Given the description of an element on the screen output the (x, y) to click on. 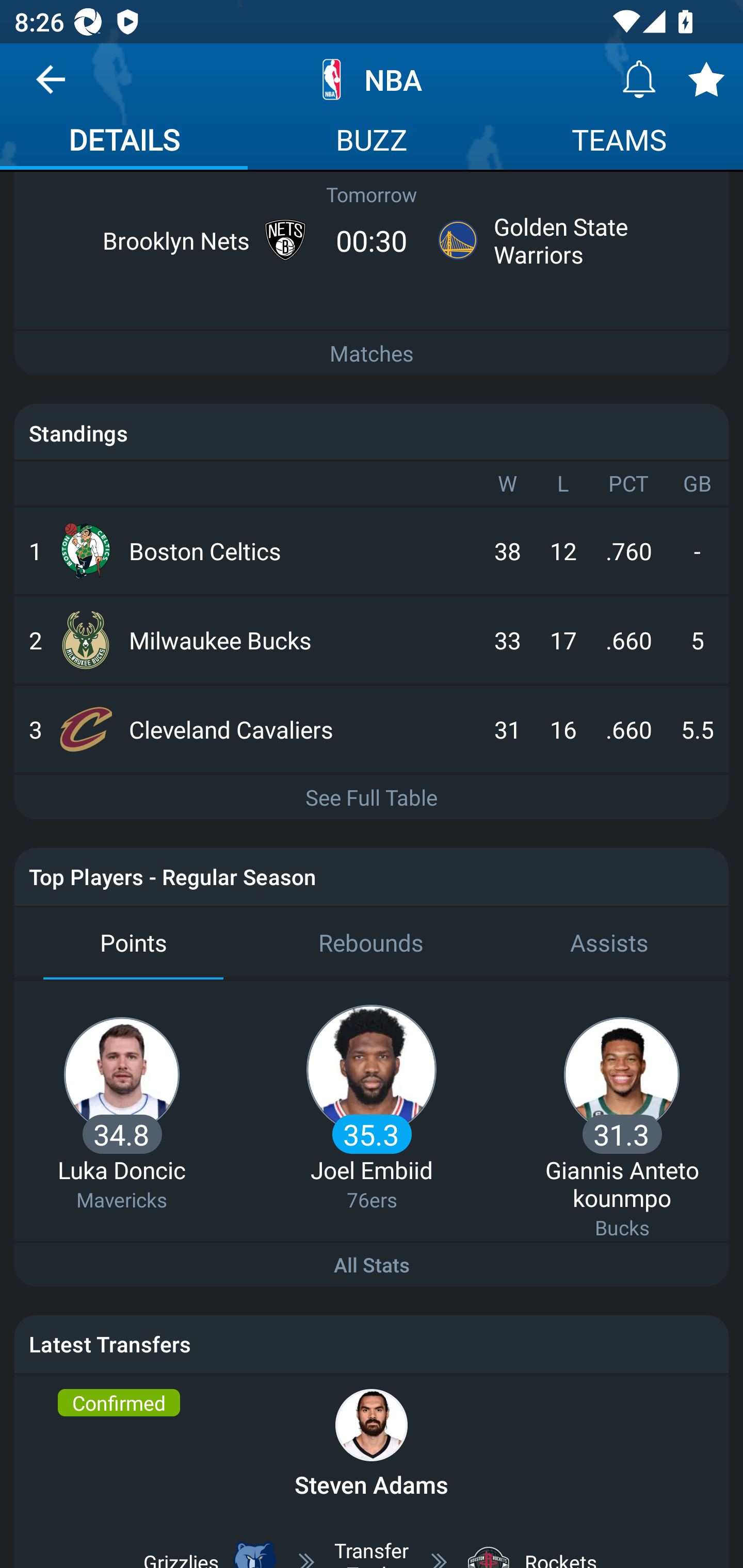
Navigate up (50, 86)
DETAILS (123, 142)
BUZZ (371, 142)
TEAMS (619, 142)
Tomorrow Brooklyn Nets 00:30 Golden State Warriors (371, 227)
Matches (371, 352)
1 Boston Celtics 38 12 .760 - (371, 551)
2 Milwaukee Bucks 33 17 .660 5 (371, 640)
3 Cleveland Cavaliers 31 16 .660 5.5 (371, 729)
See Full Table (371, 796)
Top Players - Regular Season (371, 877)
Rebounds (371, 943)
Assists (609, 943)
34.8 Luka Doncic Mavericks (121, 1163)
35.3 Joel Embiid 76ers (371, 1163)
31.3 Giannis Antetokounmpo Bucks (621, 1177)
All Stats (371, 1264)
Latest Transfers (371, 1344)
